Given the description of an element on the screen output the (x, y) to click on. 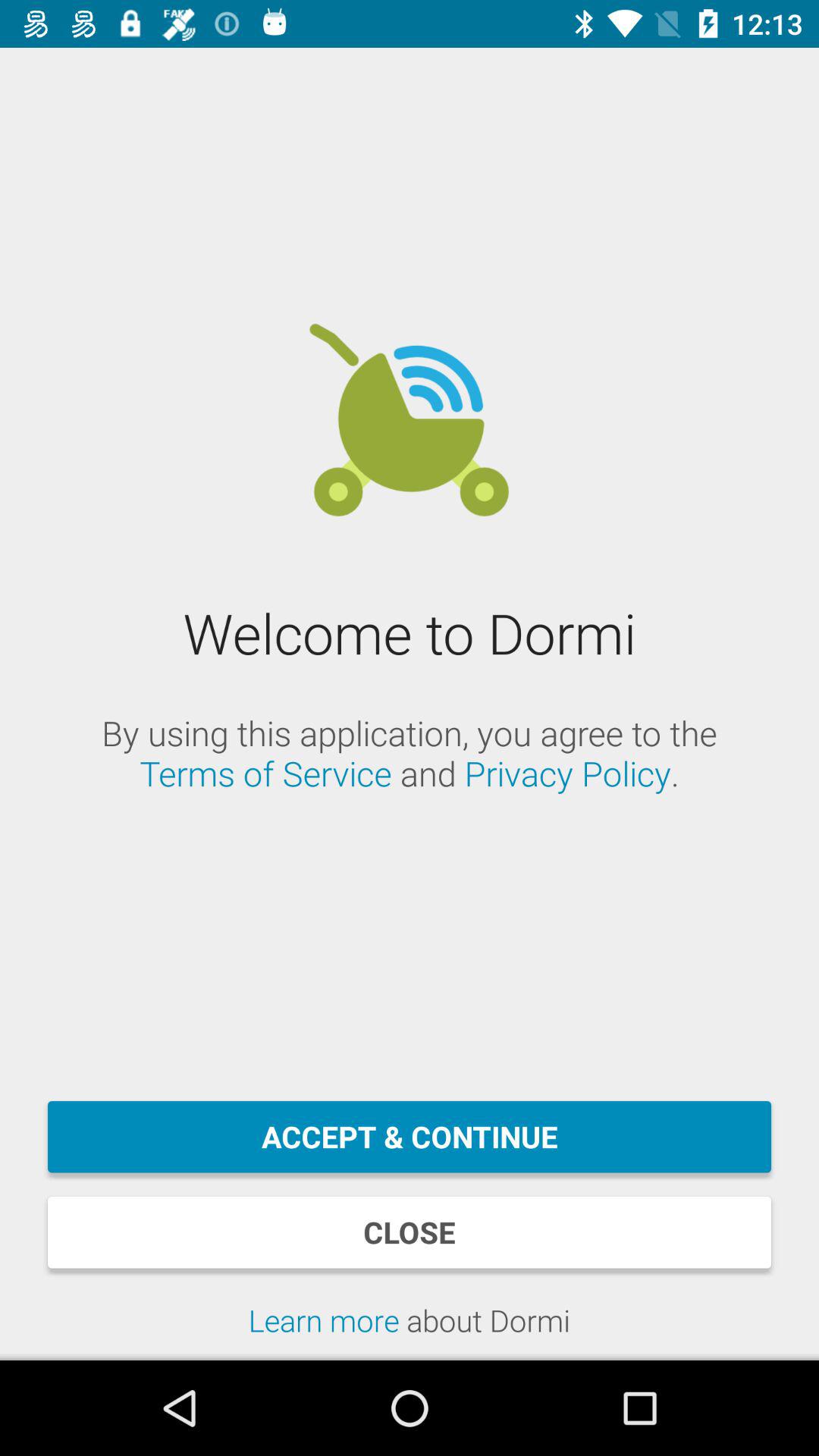
turn off icon above the accept & continue item (409, 752)
